Given the description of an element on the screen output the (x, y) to click on. 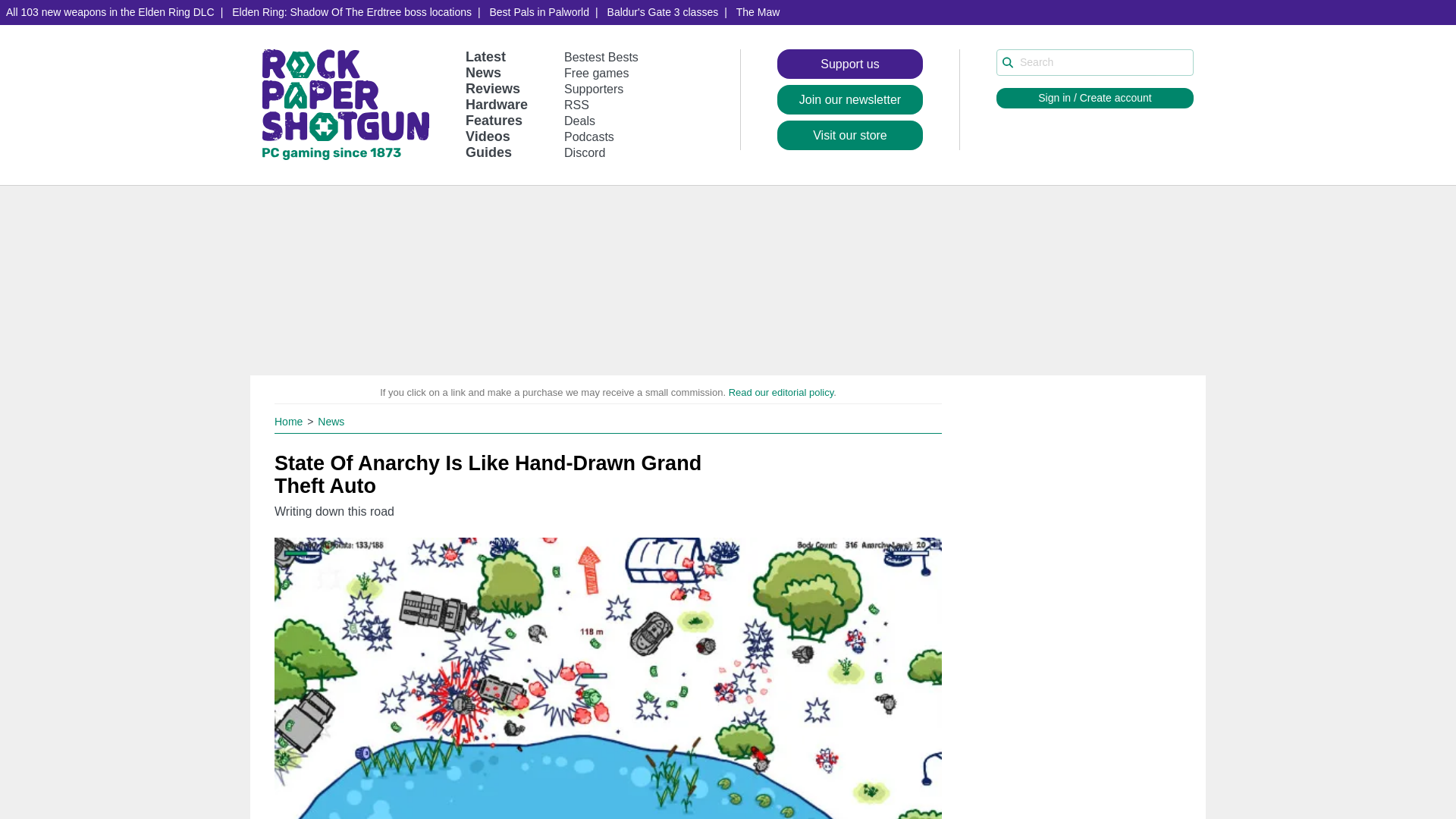
Elden Ring: Shadow Of The Erdtree boss locations (351, 12)
Best Pals in Palworld (539, 12)
Home (290, 421)
Discord (584, 152)
RSS (576, 104)
Supporters (593, 88)
Elden Ring: Shadow Of The Erdtree boss locations (351, 12)
Home (290, 421)
Join our newsletter (850, 99)
The Maw (758, 12)
Reviews (492, 88)
Latest (485, 56)
All 103 new weapons in the Elden Ring DLC (110, 12)
Discord (584, 152)
News (482, 72)
